Given the description of an element on the screen output the (x, y) to click on. 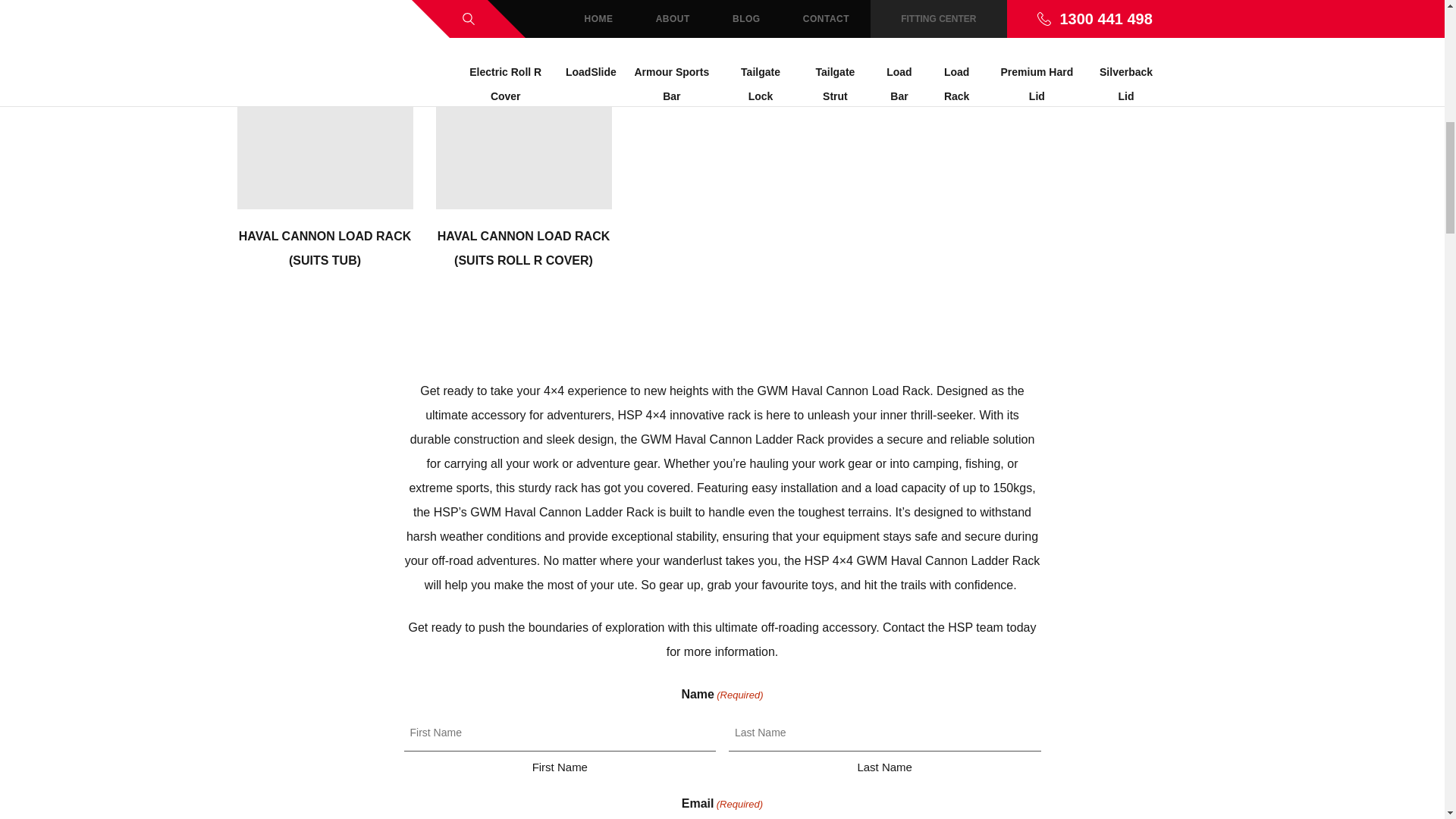
Load Rack Clearance FB Tile 2 (721, 4)
